Given the description of an element on the screen output the (x, y) to click on. 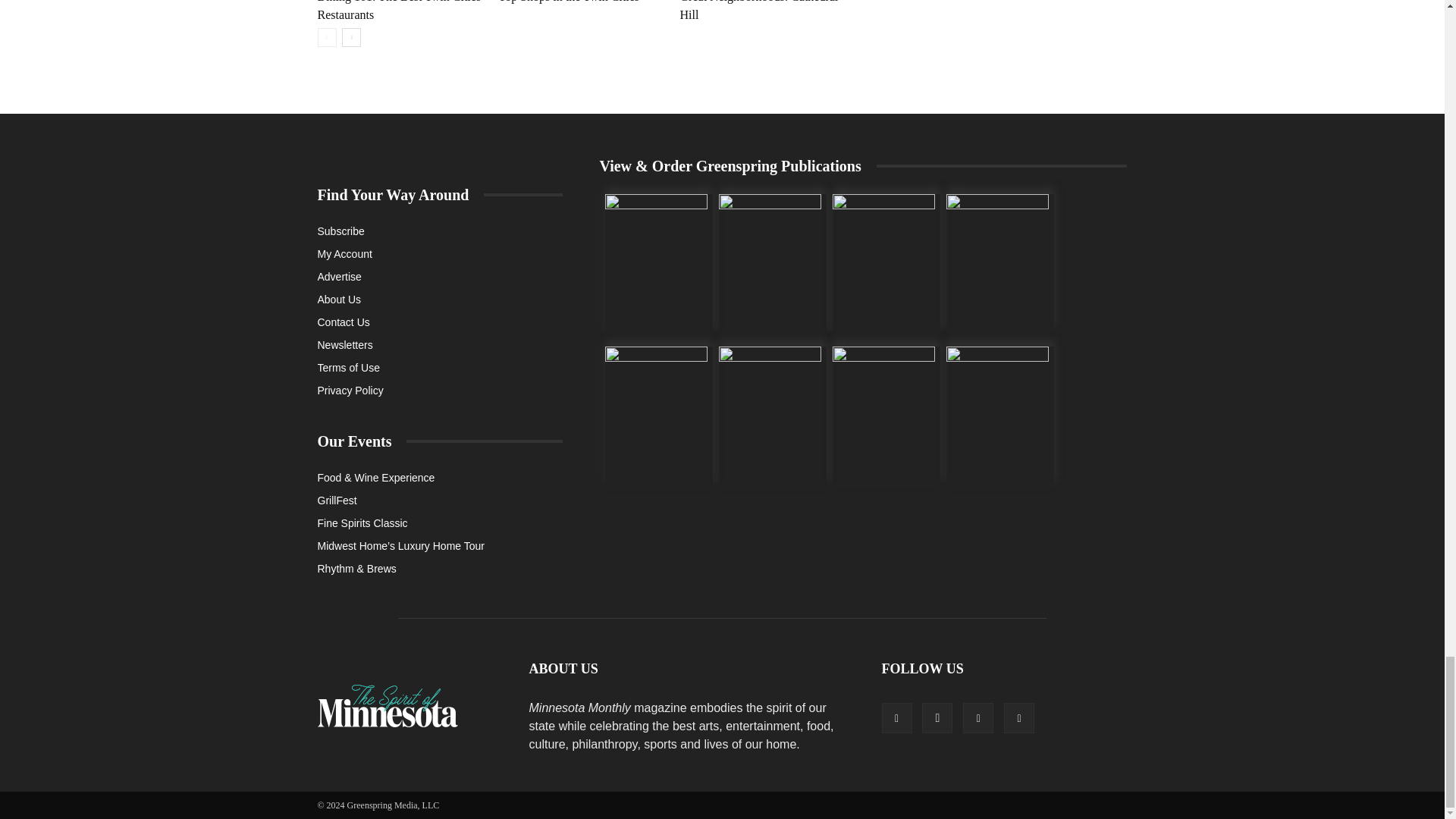
Dining 101: The Best Twin Cities Restaurants (398, 10)
Top Shops in the Twin Cities (568, 1)
